Given the description of an element on the screen output the (x, y) to click on. 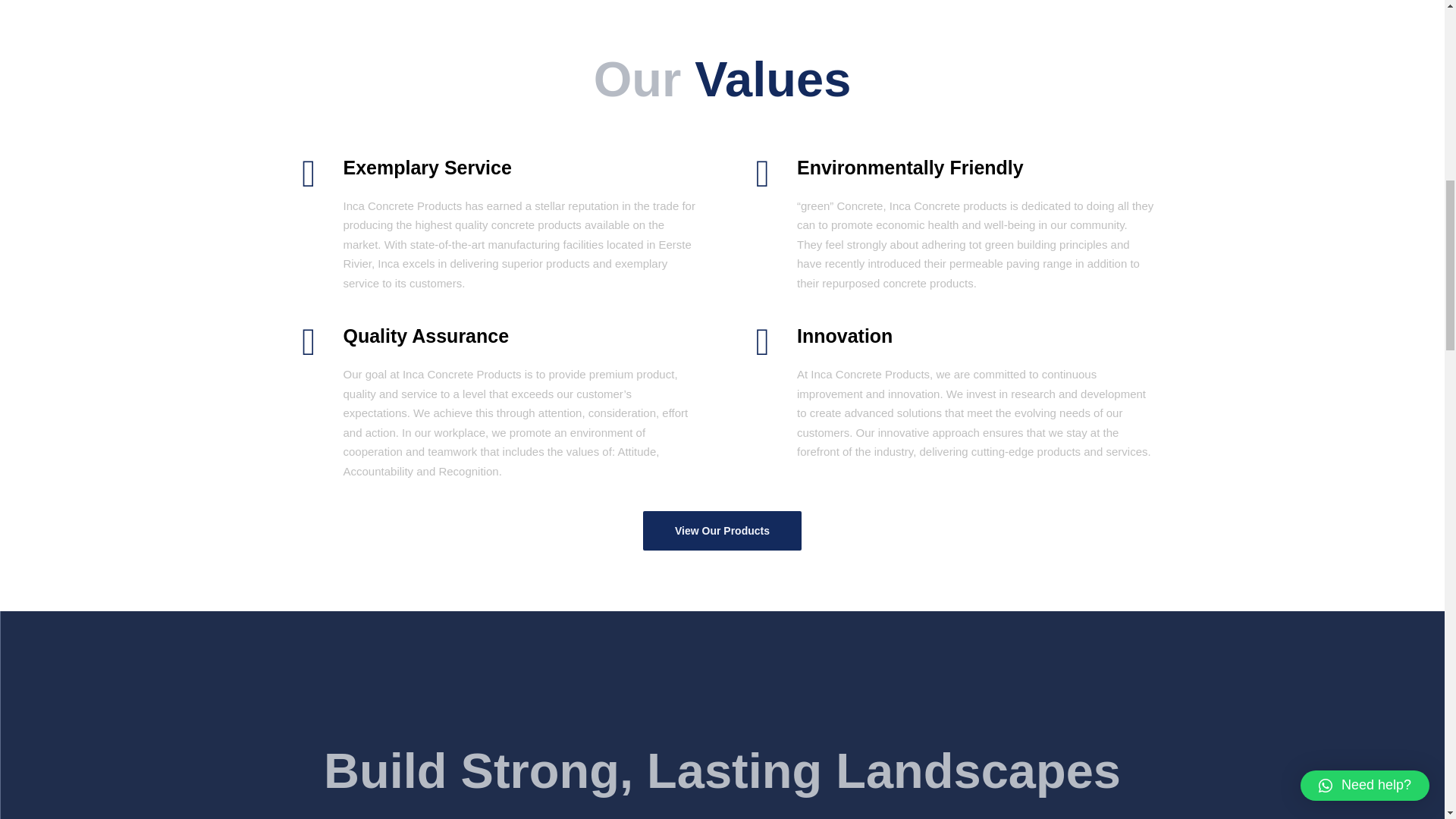
View Our Products (722, 530)
